Given the description of an element on the screen output the (x, y) to click on. 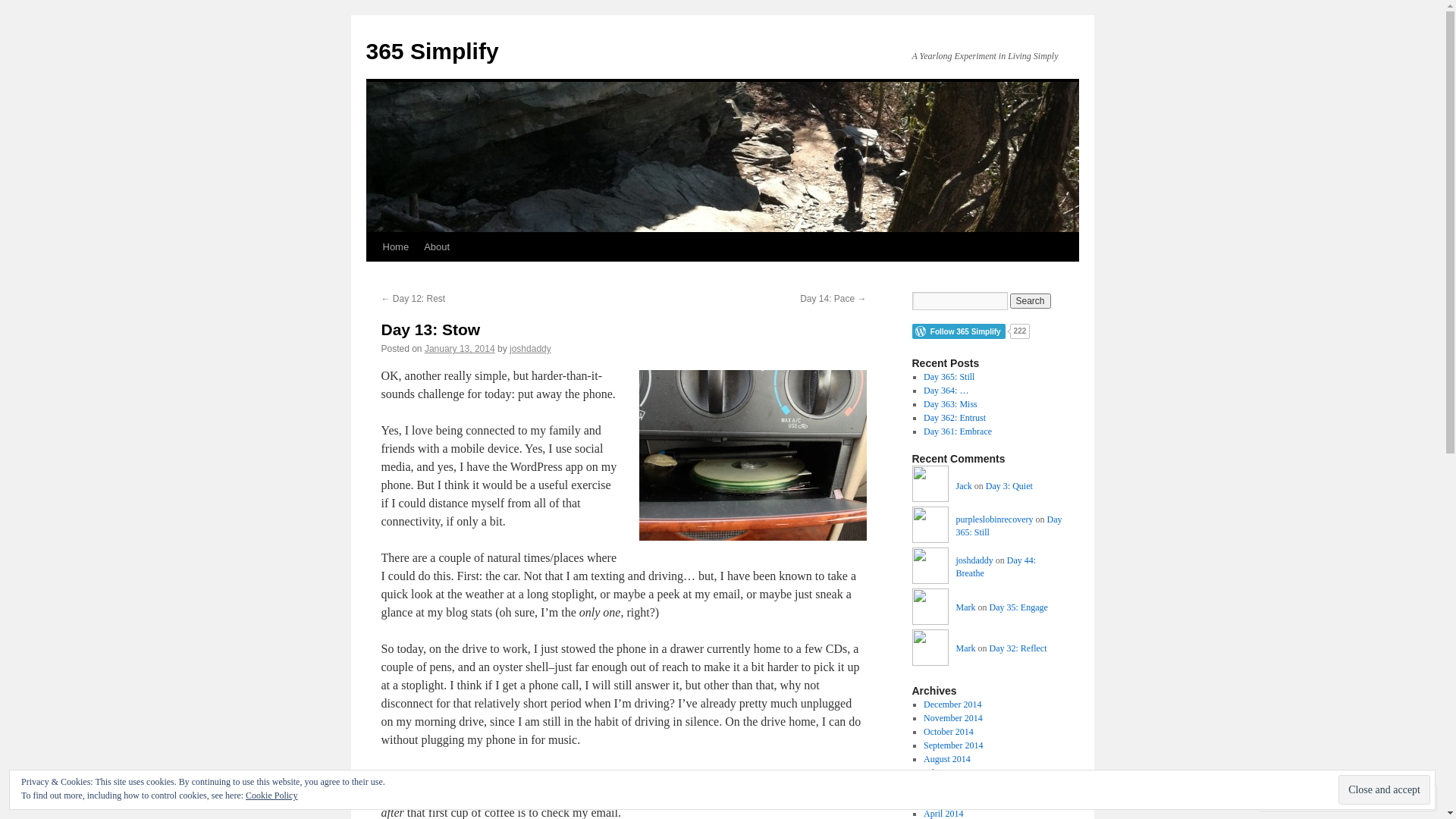
July 2014 Element type: text (941, 772)
Jack Element type: hover (929, 485)
December 2014 Element type: text (952, 704)
September 2014 Element type: text (952, 745)
Mark Element type: text (965, 648)
purpleslobinrecovery Element type: text (993, 519)
Day 44: Breathe Element type: text (995, 566)
October 2014 Element type: text (948, 731)
Day 35: Engage Element type: text (1017, 607)
Follow Element type: text (1374, 797)
Mark Element type: hover (929, 608)
Mark Element type: hover (929, 649)
November 2014 Element type: text (952, 717)
Day 363: Miss Element type: text (950, 403)
Jack Element type: text (963, 485)
Day 365: Still Element type: text (948, 376)
January 13, 2014 Element type: text (459, 348)
Day 32: Reflect Element type: text (1017, 648)
joshdaddy Element type: hover (929, 567)
June 2014 Element type: text (941, 786)
purpleslobinrecovery Element type: hover (929, 526)
Day 361: Embrace Element type: text (957, 431)
Search Element type: text (1030, 300)
Day 365: Still Element type: text (1008, 525)
365 Simplify Element type: text (431, 50)
Cookie Policy Element type: text (271, 795)
Day 362: Entrust Element type: text (954, 417)
Home Element type: text (395, 246)
August 2014 Element type: text (946, 758)
joshdaddy Element type: text (530, 348)
May 2014 Element type: text (941, 799)
Comment Element type: text (1299, 797)
joshdaddy Element type: text (973, 560)
About Element type: text (436, 246)
Close and accept Element type: text (1384, 789)
Day 13: Stow Element type: text (430, 329)
Mark Element type: text (965, 607)
But it's so dark and lonely in there! Element type: hover (752, 455)
Follow Button Element type: hover (987, 330)
Day 3: Quiet Element type: text (1008, 485)
